Given the description of an element on the screen output the (x, y) to click on. 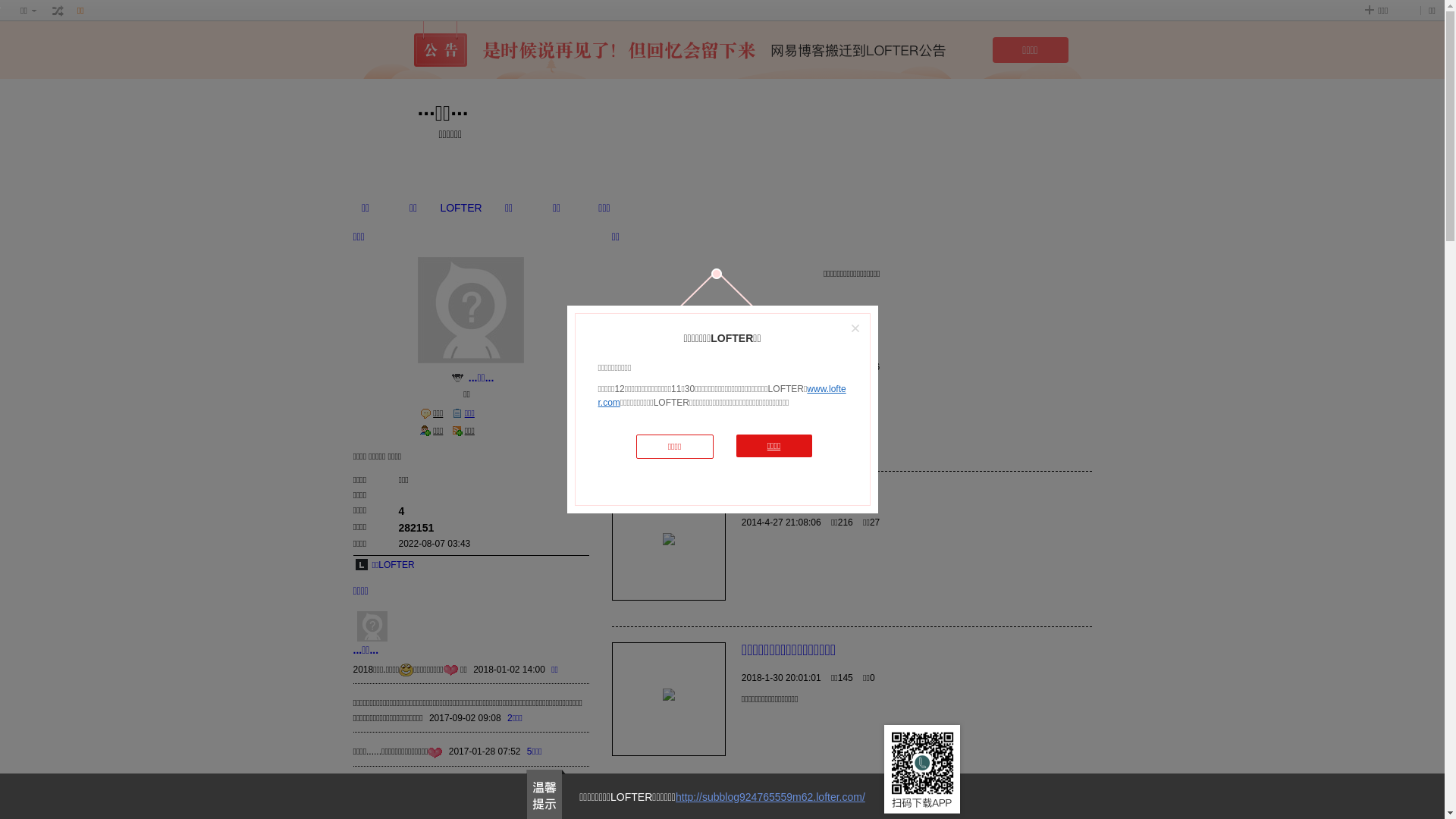
http://subblog924765559m62.lofter.com/ Element type: text (770, 796)
  Element type: text (457, 377)
LOFTER Element type: text (460, 207)
www.lofter.com Element type: text (721, 395)
  Element type: text (58, 10)
